Given the description of an element on the screen output the (x, y) to click on. 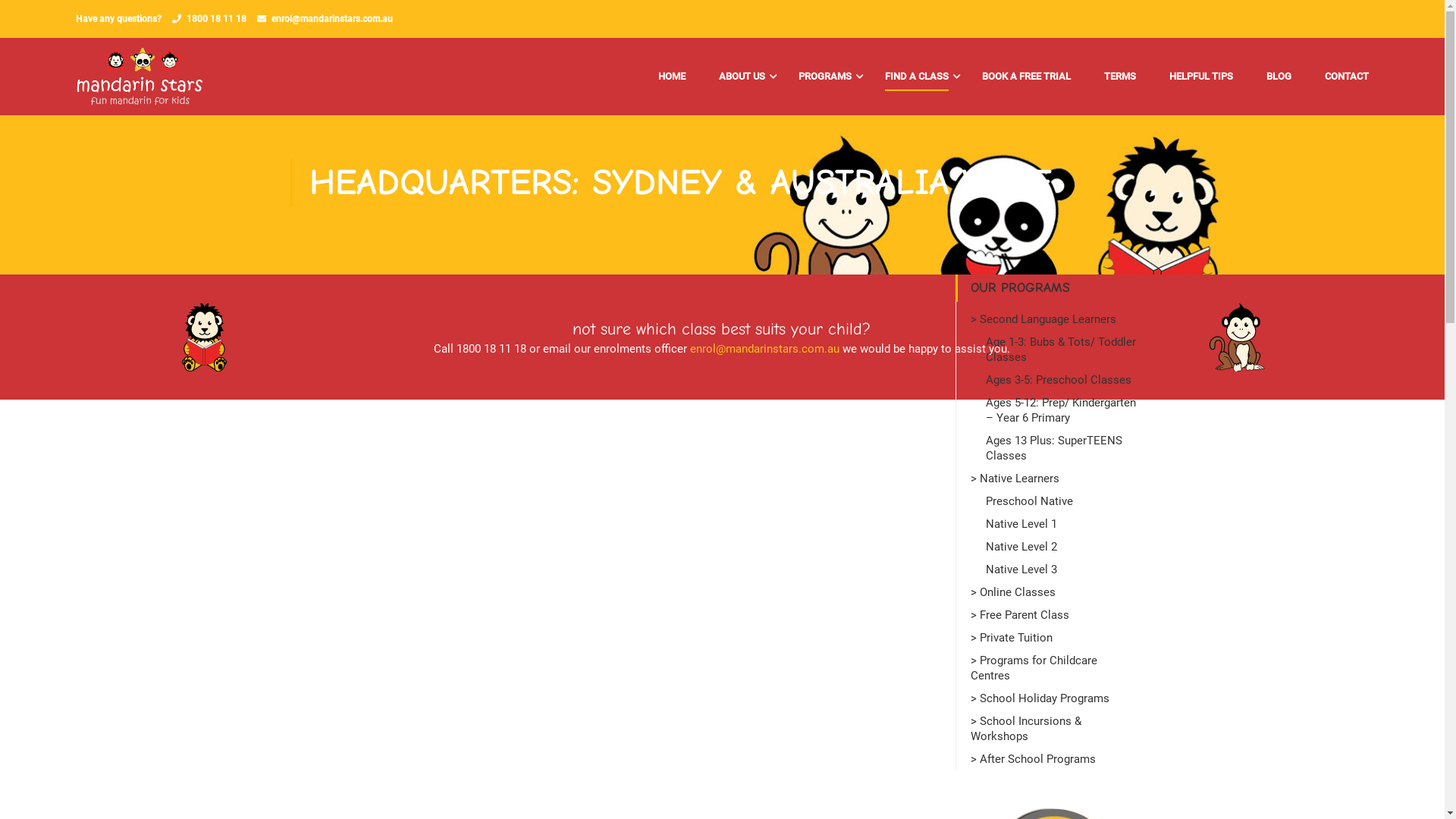
FIND A CLASS Element type: text (916, 76)
Native Level 1 Element type: text (1062, 523)
Age 1-3: Bubs & Tots/ Toddler Classes Element type: text (1062, 349)
BOOK A FREE TRIAL Element type: text (1025, 76)
> Programs for Childcare Centres Element type: text (1054, 667)
Native Level 3 Element type: text (1062, 569)
> Private Tuition Element type: text (1054, 637)
Mandarin Stars - Fun Mandarin Chinese Element type: hover (139, 76)
> After School Programs Element type: text (1054, 758)
BLOG Element type: text (1278, 76)
ABOUT US Element type: text (741, 76)
PROGRAMS Element type: text (824, 76)
> School Holiday Programs Element type: text (1054, 698)
enrol@mandarinstars.com.au Element type: text (331, 18)
enrol@mandarinstars.com.au Element type: text (764, 348)
> Native Learners Element type: text (1054, 478)
Ages 13 Plus: SuperTEENS Classes Element type: text (1062, 448)
Ages 3-5: Preschool Classes Element type: text (1062, 379)
> Second Language Learners Element type: text (1054, 318)
> Free Parent Class Element type: text (1054, 614)
HELPFUL TIPS Element type: text (1201, 76)
Preschool Native Element type: text (1062, 500)
HOME Element type: text (671, 76)
Native Level 2 Element type: text (1062, 546)
TERMS Element type: text (1119, 76)
> School Incursions & Workshops Element type: text (1054, 728)
> Online Classes Element type: text (1054, 591)
CONTACT Element type: text (1338, 76)
